Given the description of an element on the screen output the (x, y) to click on. 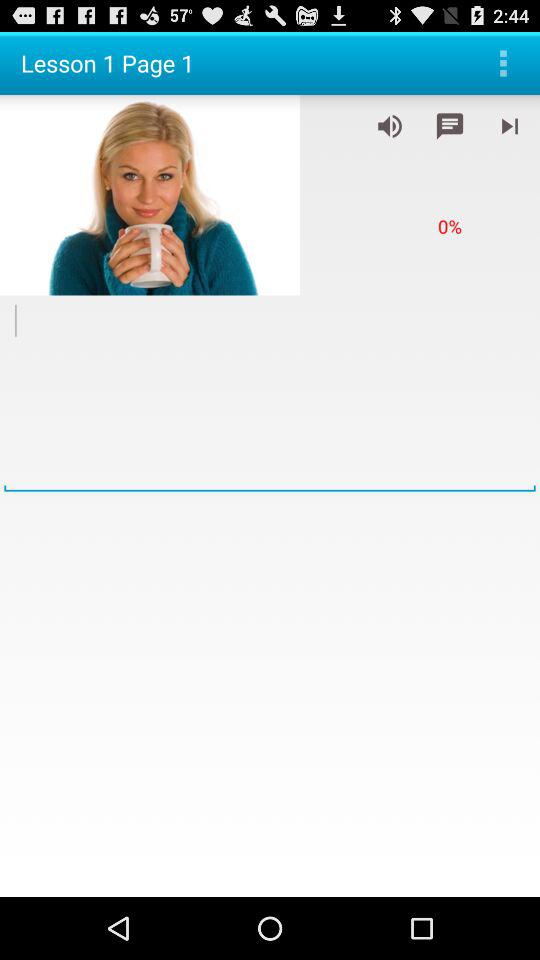
write down notes (450, 125)
